Given the description of an element on the screen output the (x, y) to click on. 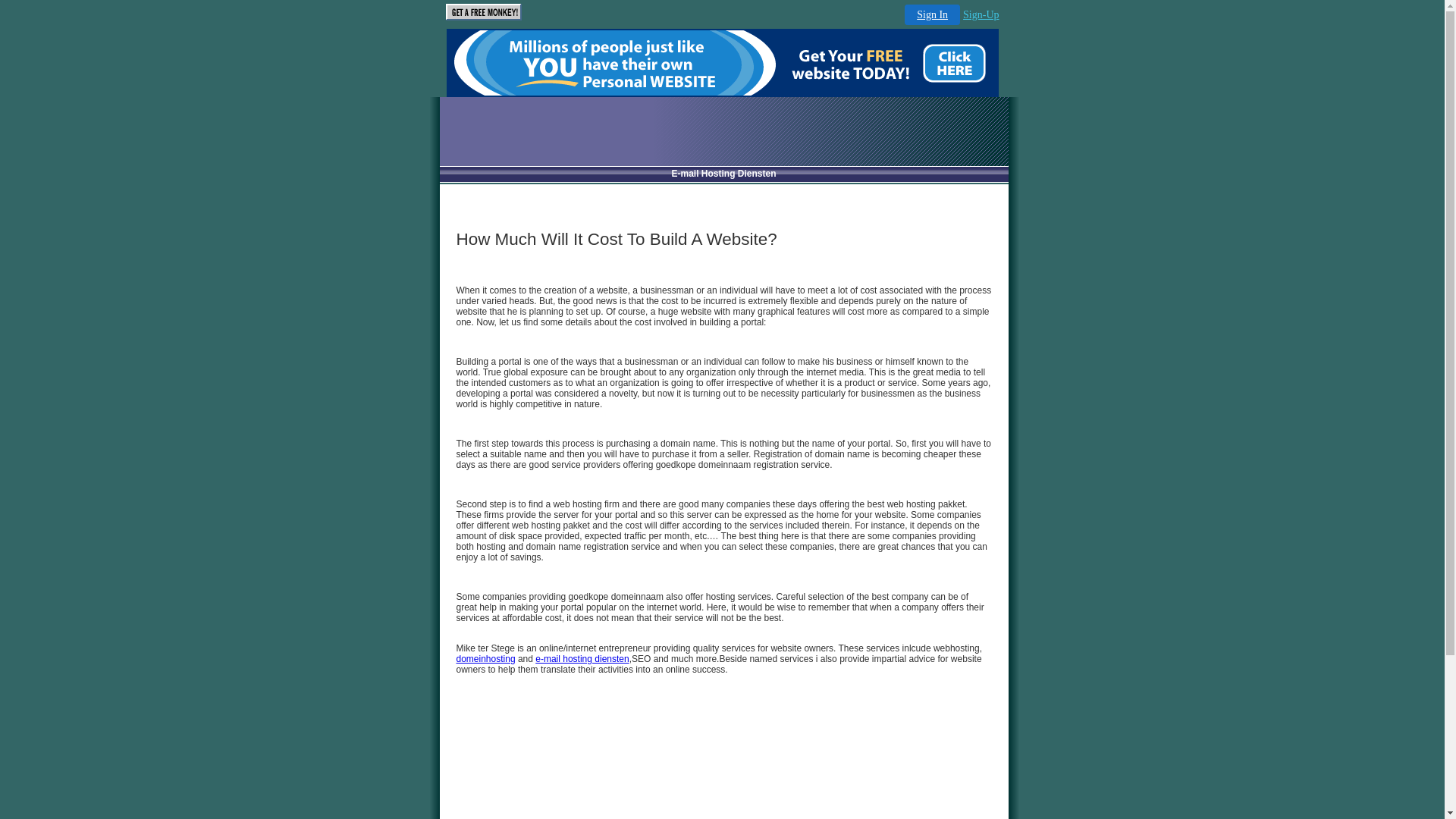
domeinhosting Element type: text (485, 658)
e-mail hosting diensten Element type: text (581, 658)
E-mail Hosting Diensten Element type: text (723, 173)
Sign In Element type: text (932, 14)
Sign-Up Element type: text (980, 14)
